Given the description of an element on the screen output the (x, y) to click on. 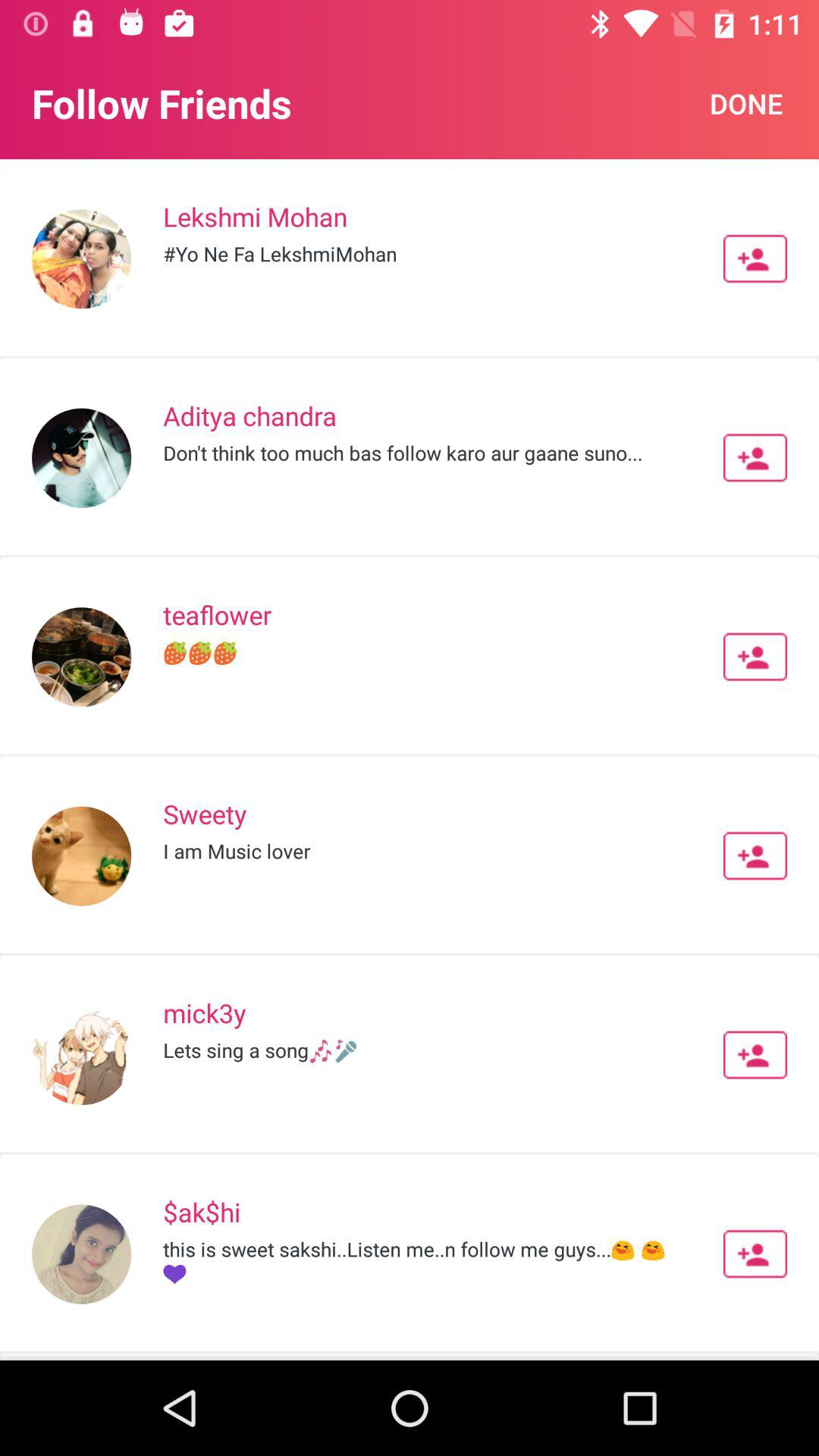
follow this friend (755, 258)
